Given the description of an element on the screen output the (x, y) to click on. 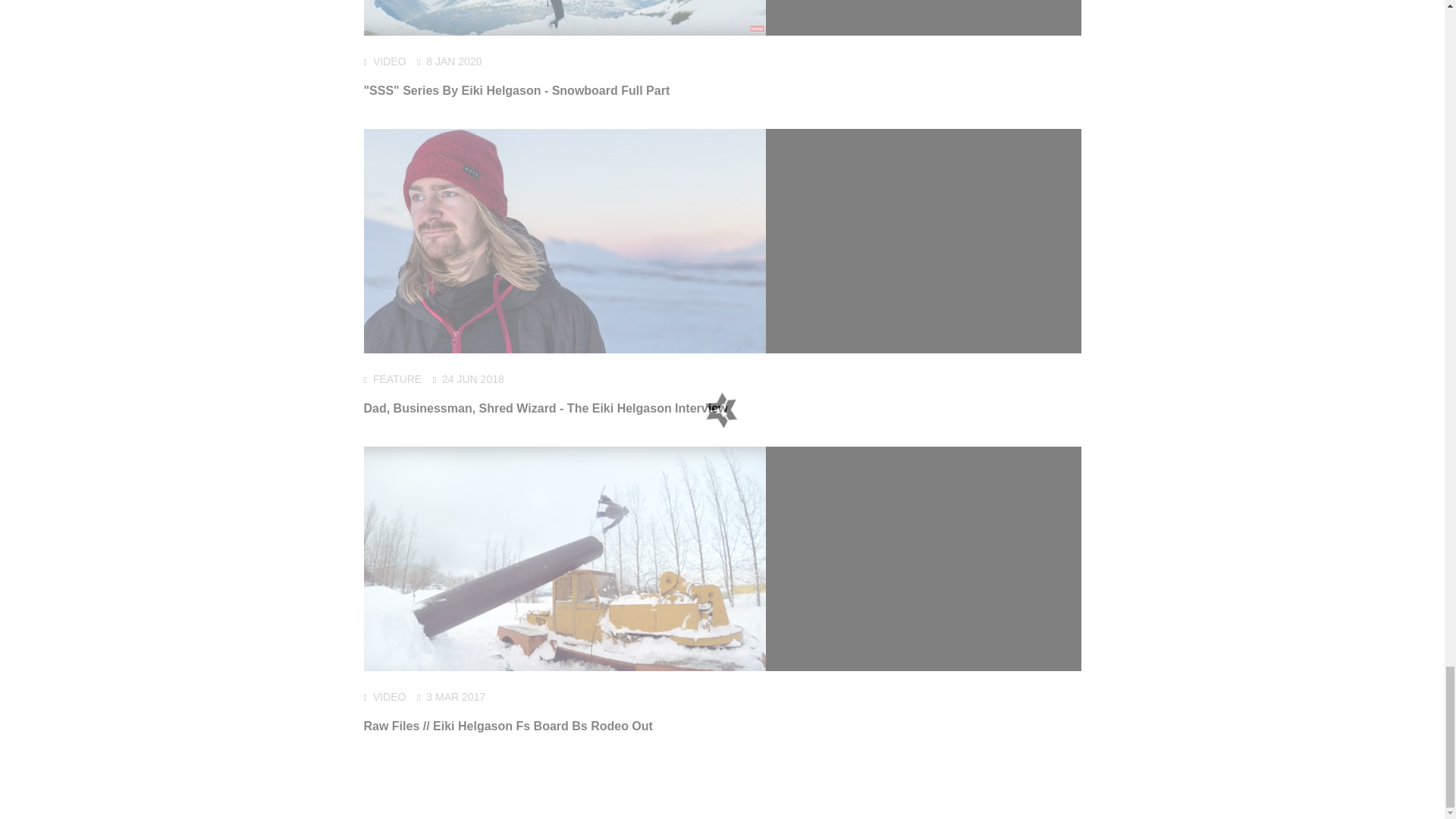
"SSS" Series By Eiki Helgason - Snowboard Full Part (516, 90)
Dad, Businessman, Shred Wizard - The Eiki Helgason Interview (546, 408)
Dad, Businessman, Shred Wizard - The Eiki Helgason Interview (546, 408)
